Given the description of an element on the screen output the (x, y) to click on. 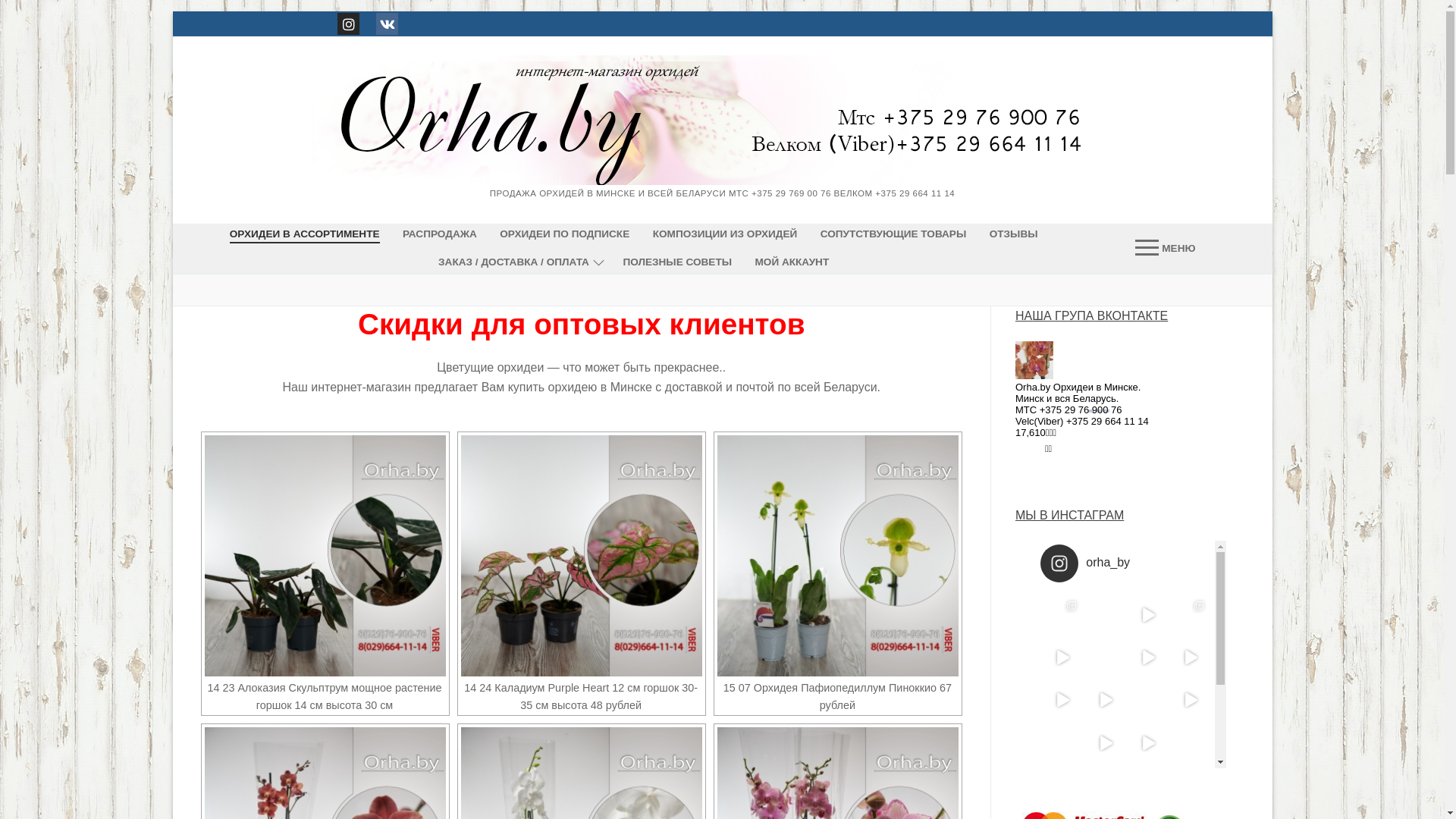
orha_by Element type: text (1125, 563)
Instagram Element type: hover (348, 23)
